Given the description of an element on the screen output the (x, y) to click on. 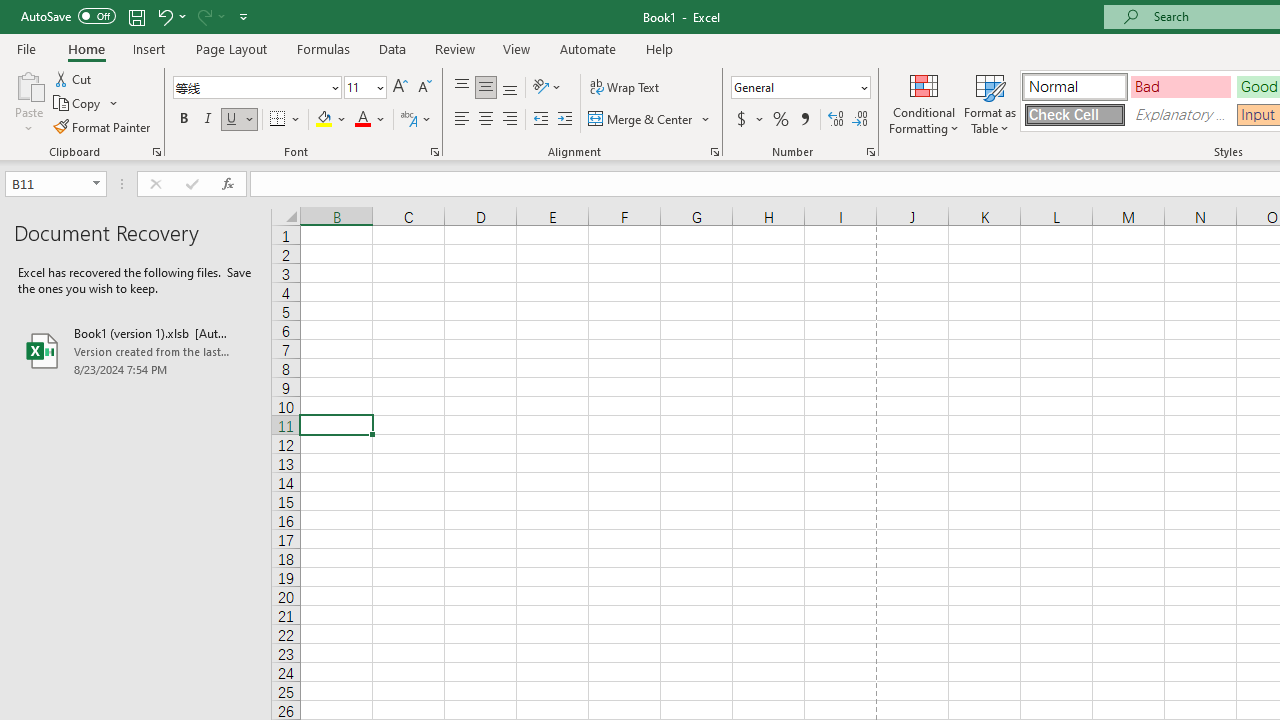
Home (86, 48)
Increase Decimal (836, 119)
Help (660, 48)
AutoSave (68, 16)
Format as Table (990, 102)
Bottom Align (509, 87)
Orientation (547, 87)
Borders (285, 119)
Decrease Decimal (859, 119)
Number Format (800, 87)
Font Size (365, 87)
Accounting Number Format (749, 119)
Book1 (version 1).xlsb  [AutoRecovered] (136, 350)
Top Align (461, 87)
Middle Align (485, 87)
